Given the description of an element on the screen output the (x, y) to click on. 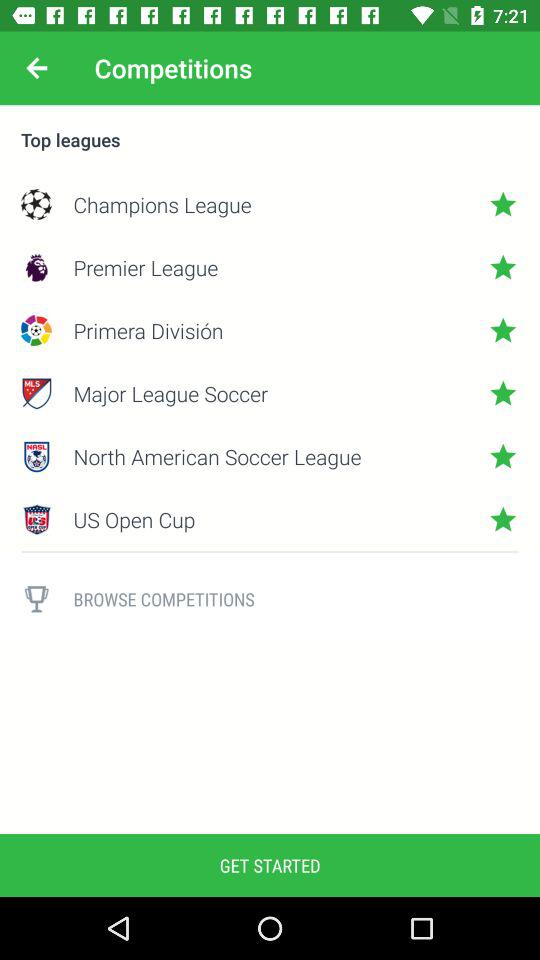
turn on the top leagues item (270, 139)
